Given the description of an element on the screen output the (x, y) to click on. 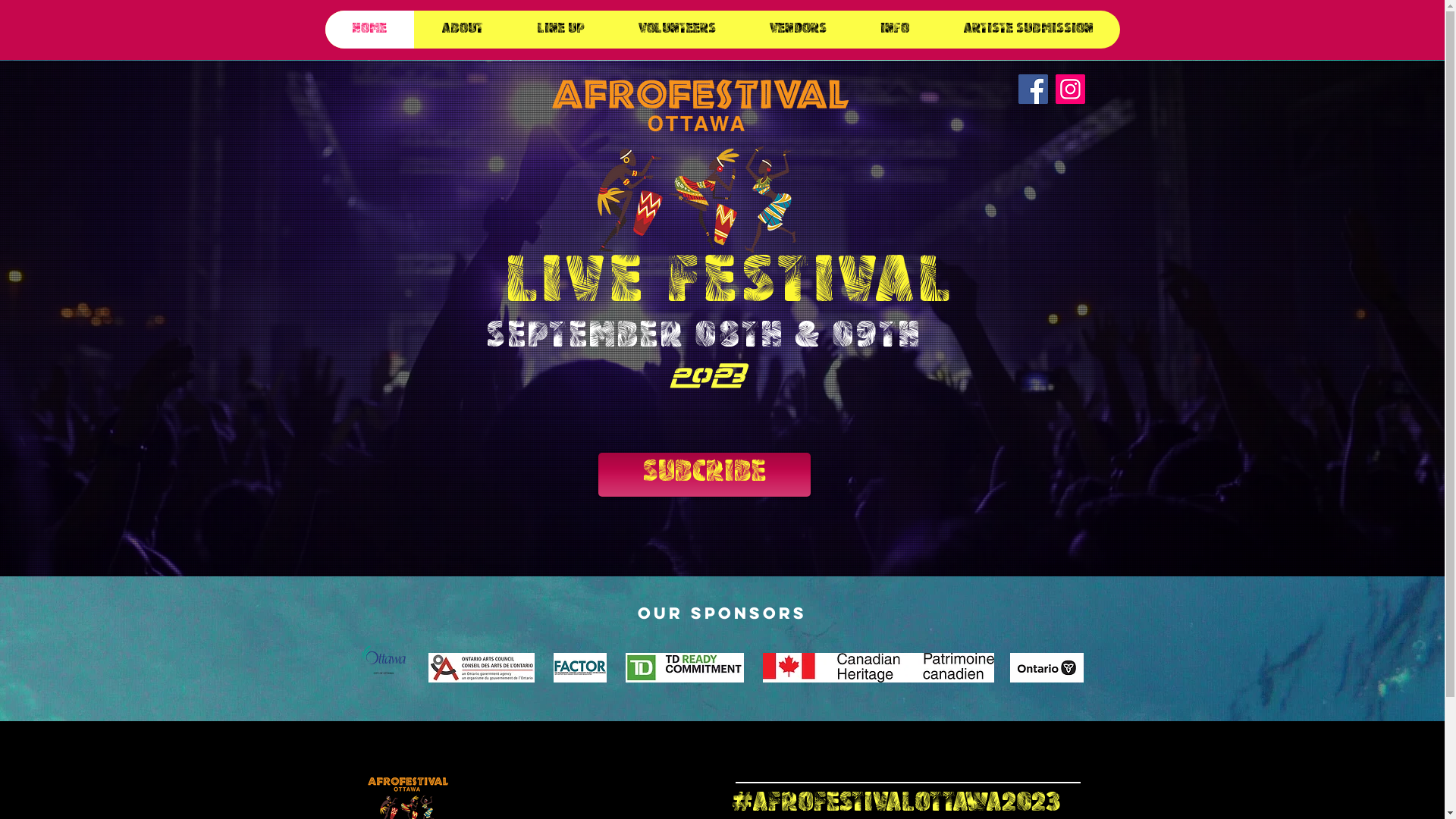
VENDORS Element type: text (796, 29)
SUBCRIBE Element type: text (703, 474)
VOLUNTEERS Element type: text (676, 29)
ARTISTE SUBMISSION Element type: text (1027, 29)
ABOUT Element type: text (462, 29)
INFO Element type: text (893, 29)
HOME Element type: text (368, 29)
